Given the description of an element on the screen output the (x, y) to click on. 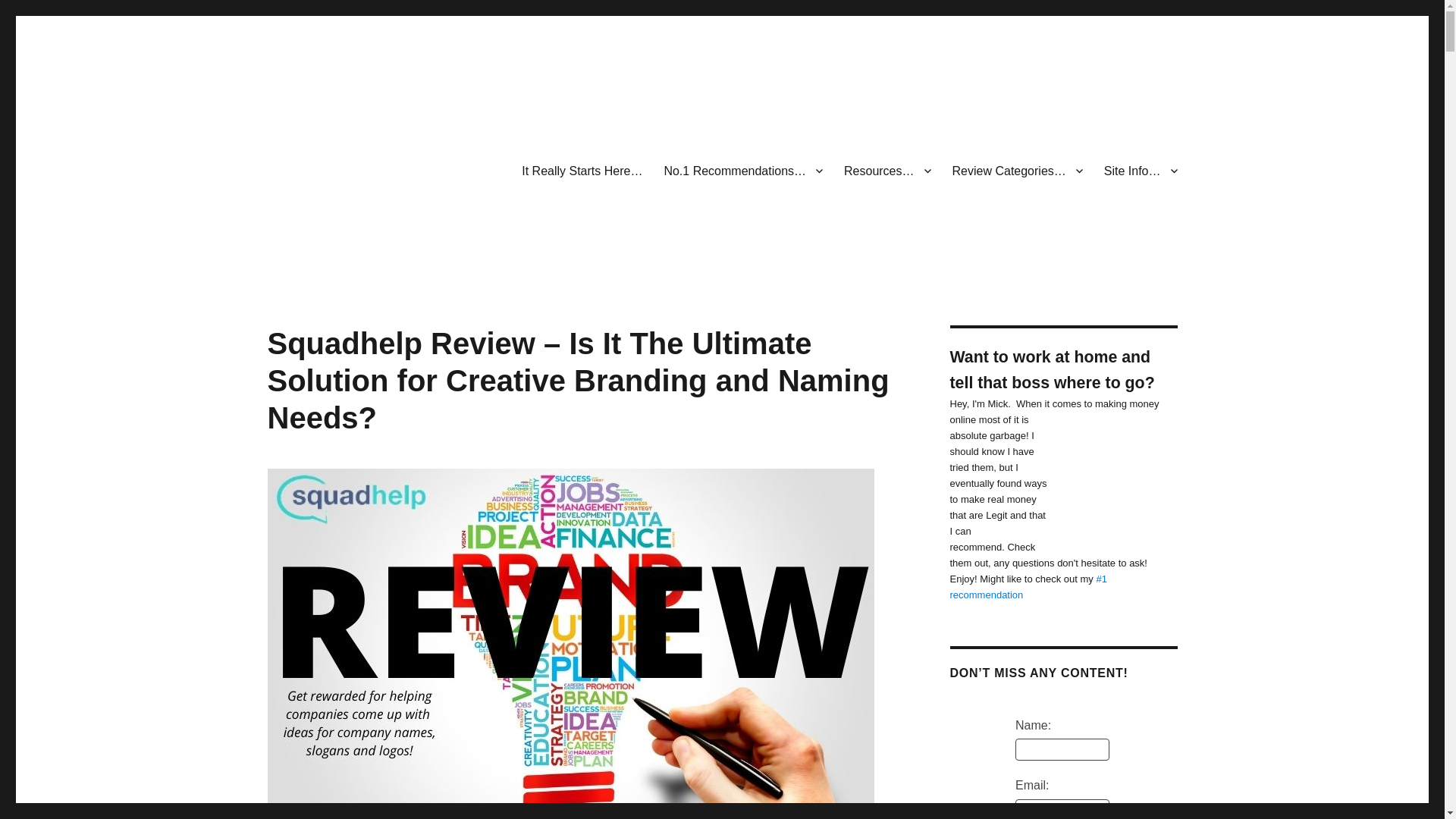
Achieve Success From Home (415, 285)
